Given the description of an element on the screen output the (x, y) to click on. 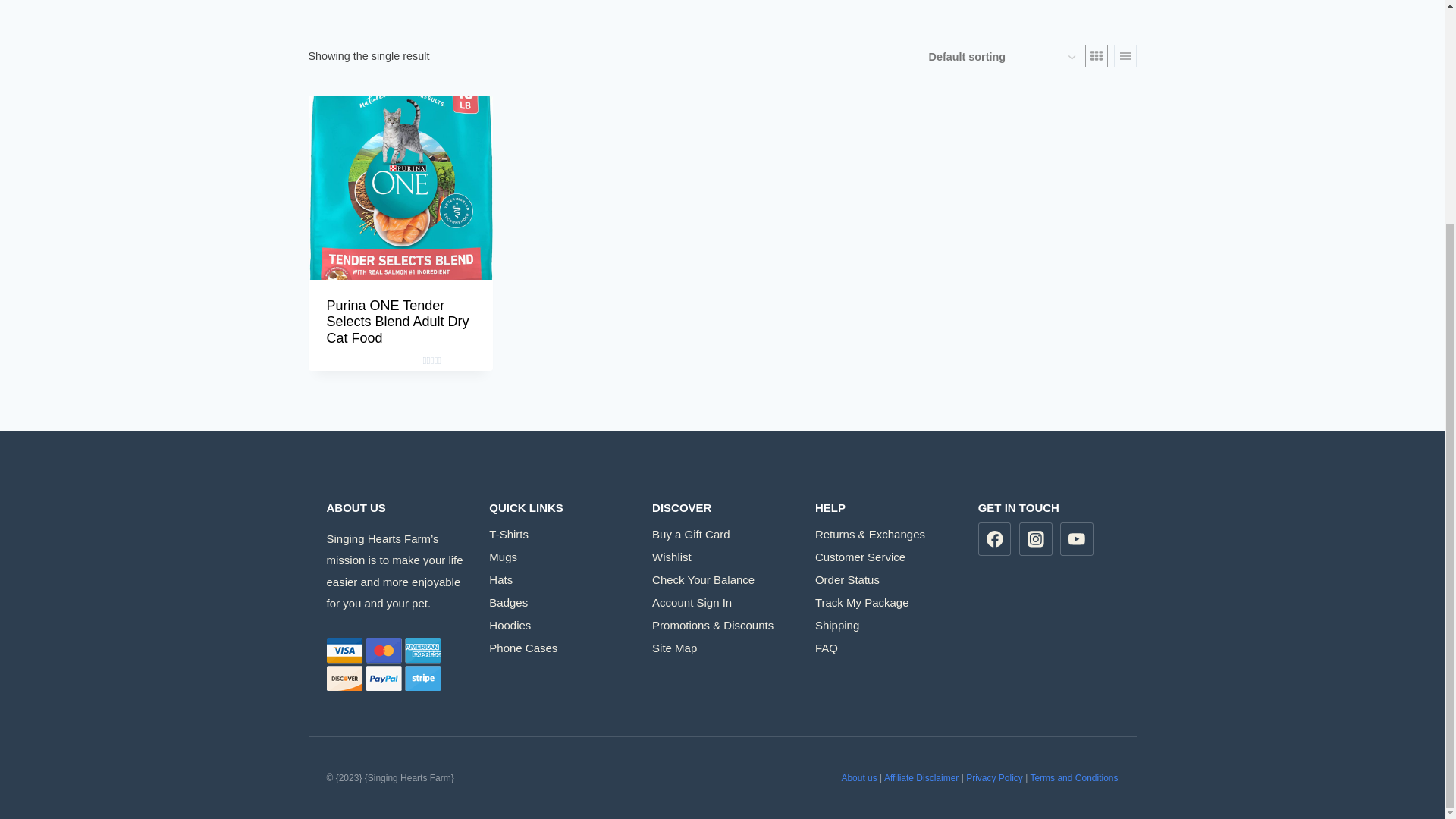
Customer Service (885, 556)
Track My Package (885, 601)
Purina ONE Tender Selects Blend Adult Dry Cat Food (397, 321)
Account Sign In (722, 601)
List View (1124, 56)
Phone Cases (558, 647)
Mugs (558, 556)
Site Map (722, 647)
Check Your Balance (722, 579)
Grid View (1095, 56)
